Given the description of an element on the screen output the (x, y) to click on. 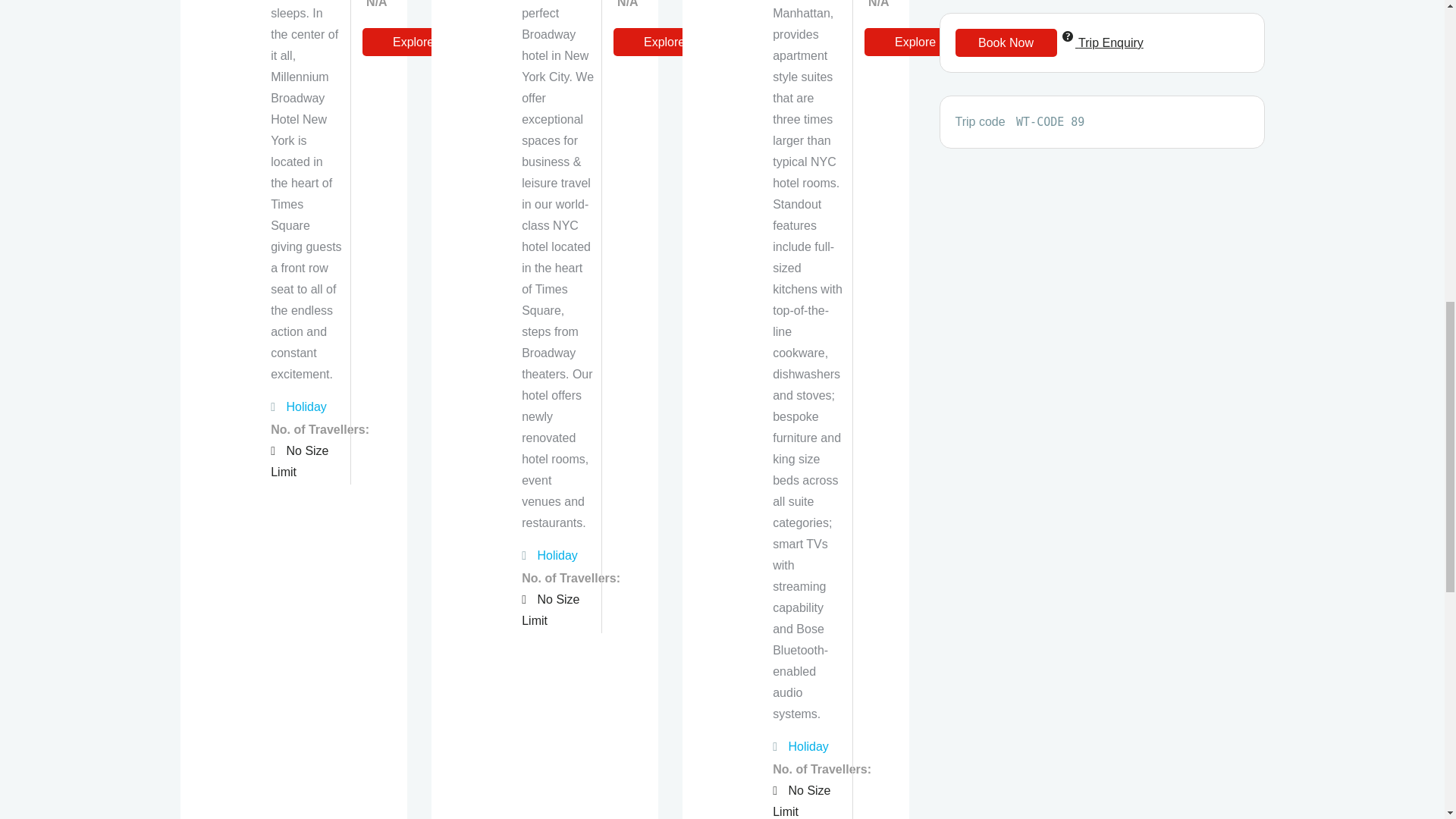
Holiday (556, 554)
Explore (663, 41)
Holiday (305, 406)
Explore (413, 41)
